Given the description of an element on the screen output the (x, y) to click on. 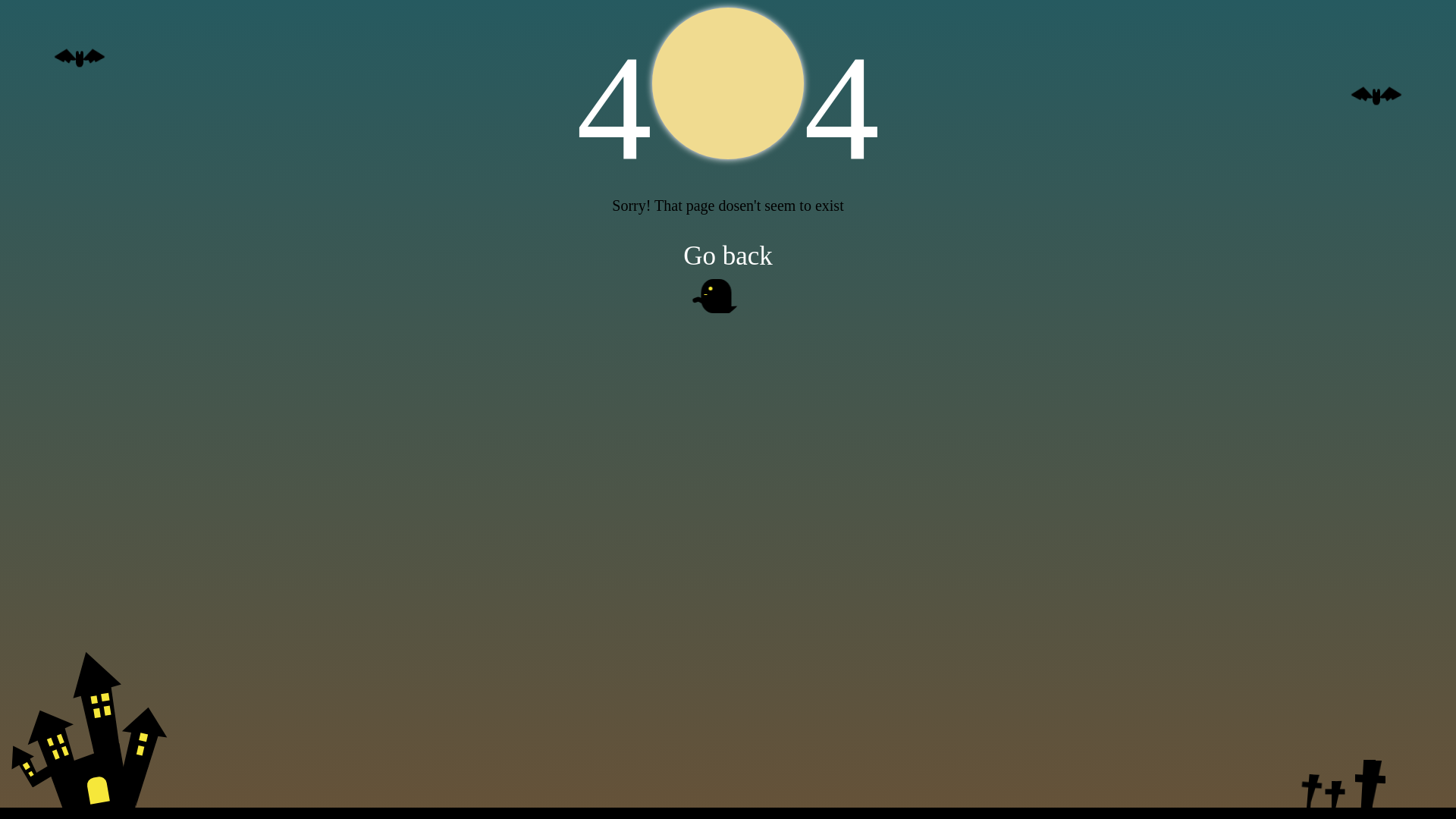
Go back Element type: text (727, 254)
